Given the description of an element on the screen output the (x, y) to click on. 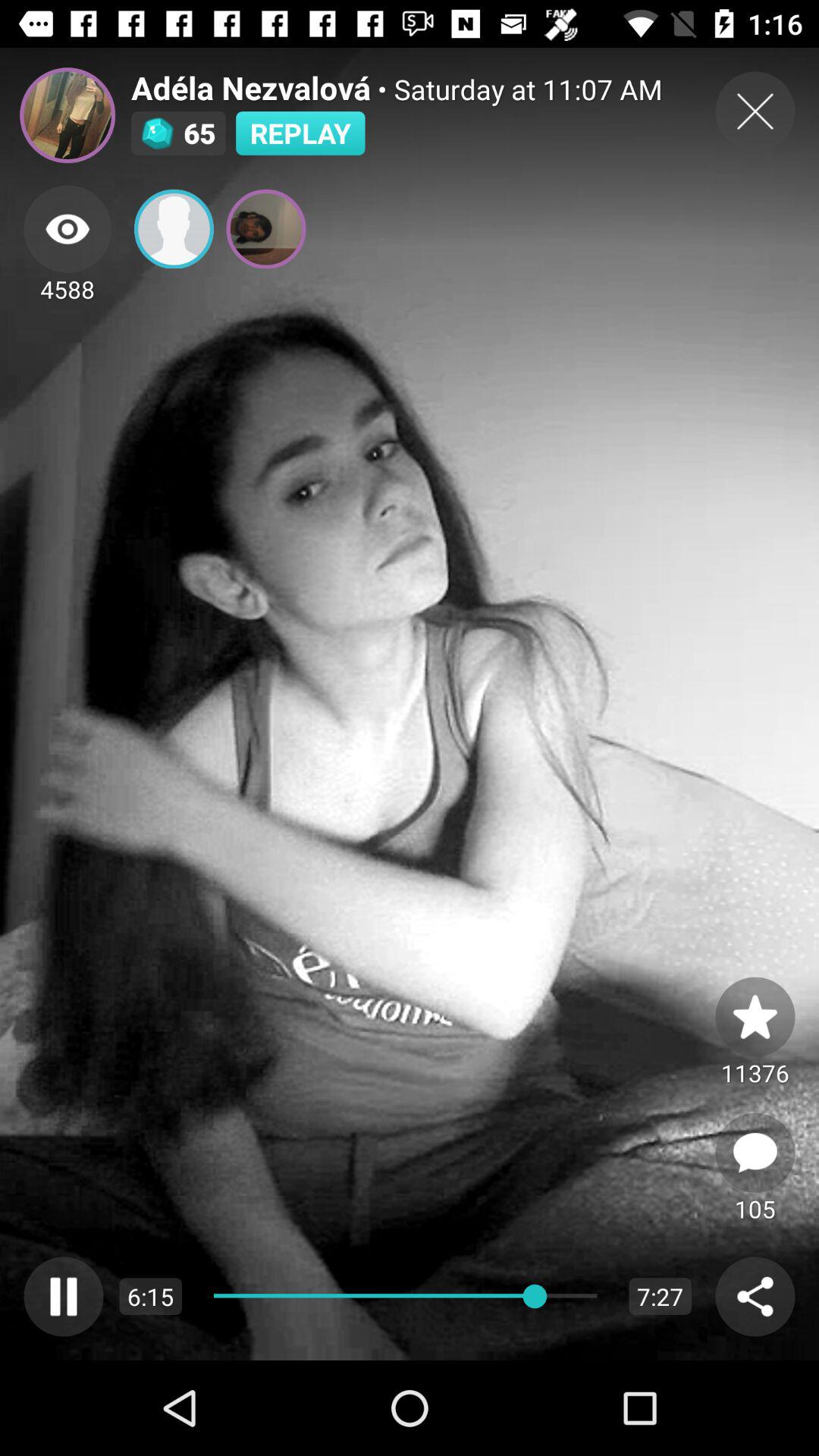
total viewers (67, 229)
